Given the description of an element on the screen output the (x, y) to click on. 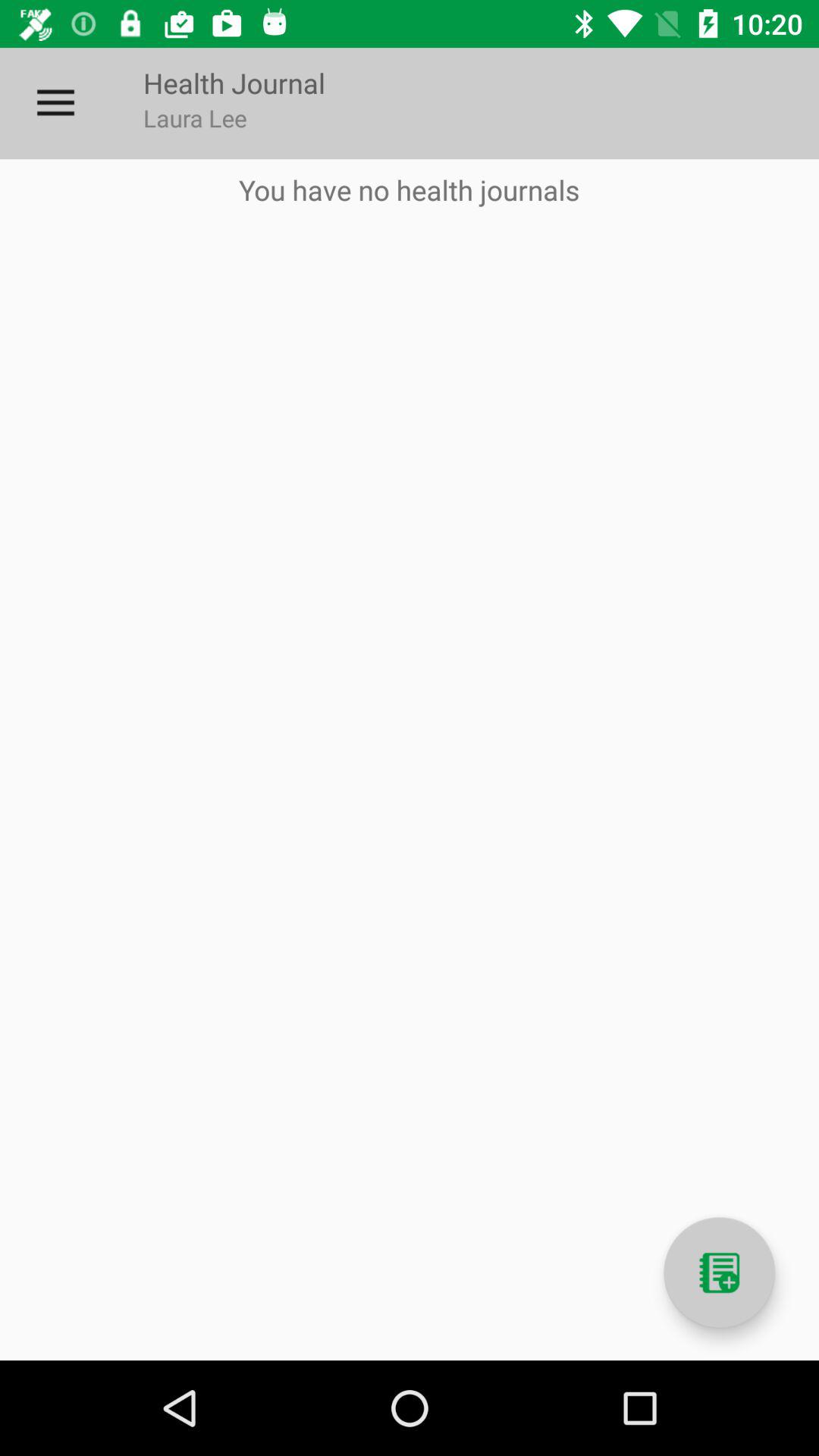
journal (719, 1272)
